Given the description of an element on the screen output the (x, y) to click on. 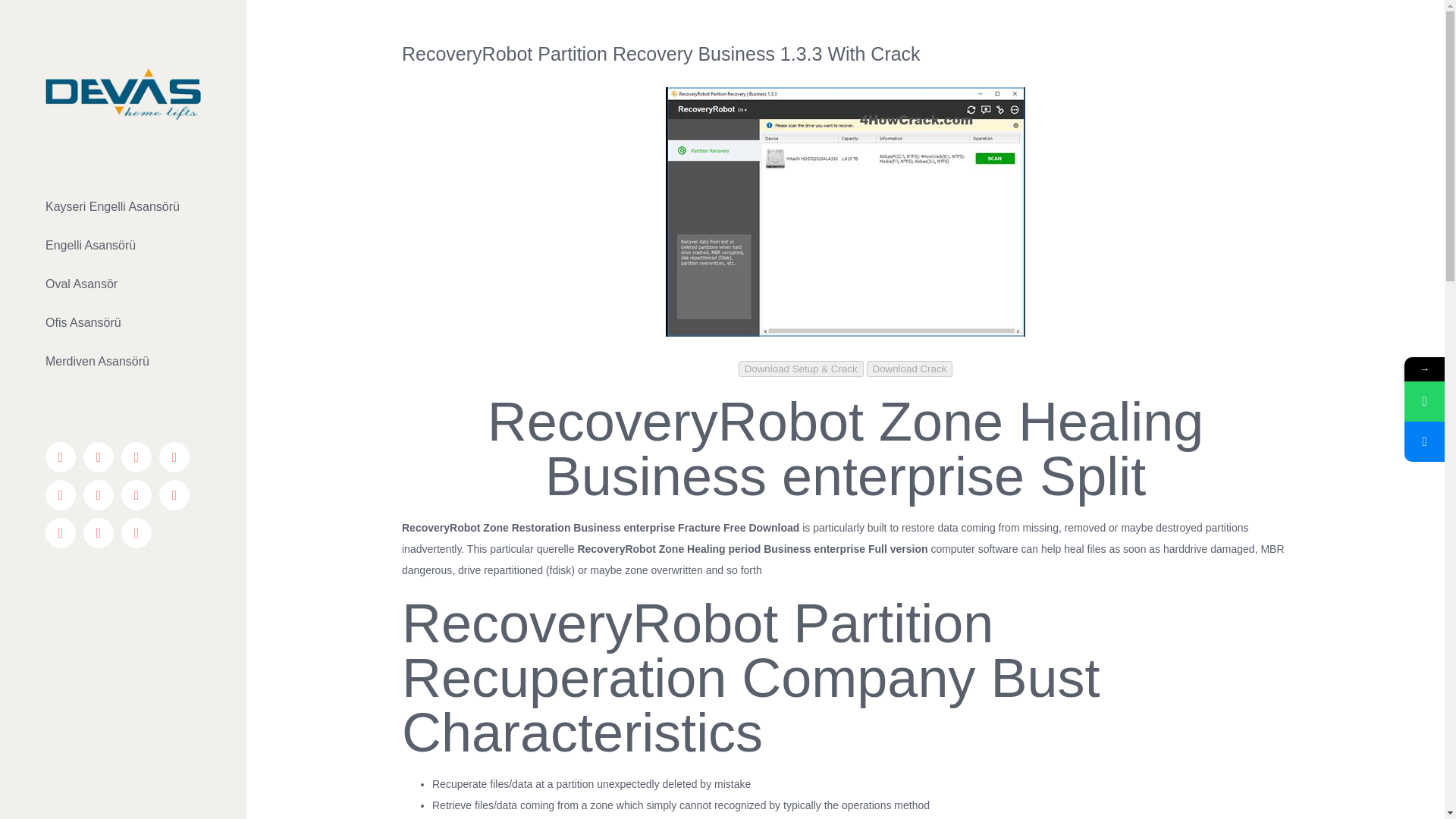
Pinterest (60, 494)
Facebook (60, 457)
YouTube (173, 457)
Tumblr (97, 494)
Whatsapp (97, 532)
LinkedIn (173, 494)
Flickr (60, 532)
Instagram (135, 457)
Twitter (97, 457)
Reddit (135, 494)
Email (135, 532)
Download Crack (909, 368)
